Given the description of an element on the screen output the (x, y) to click on. 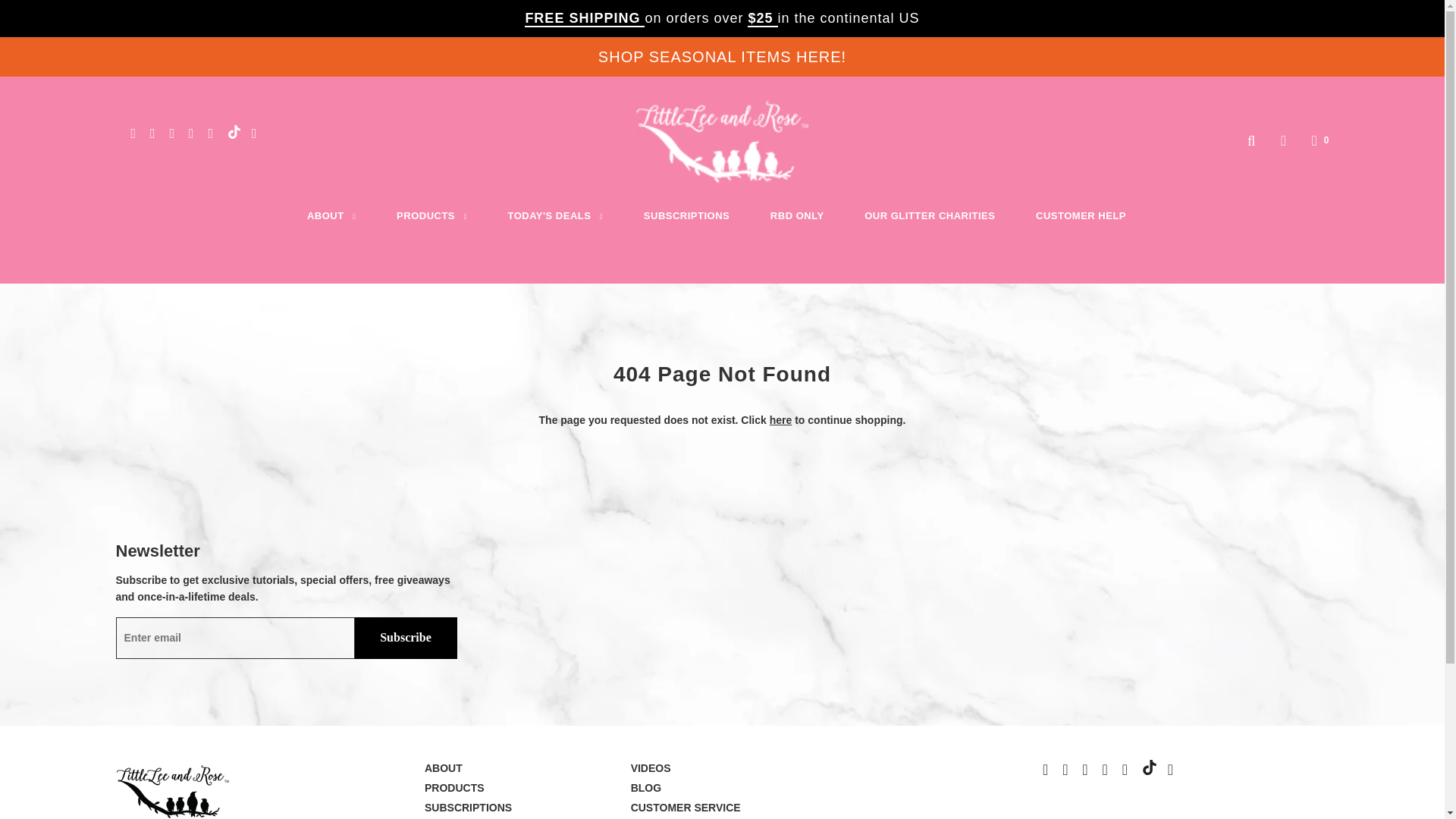
tiktok (1149, 767)
Subscribe (406, 638)
TIKTOK (234, 131)
Seasonal Items (721, 56)
SHOP SEASONAL ITEMS HERE! (721, 56)
